Given the description of an element on the screen output the (x, y) to click on. 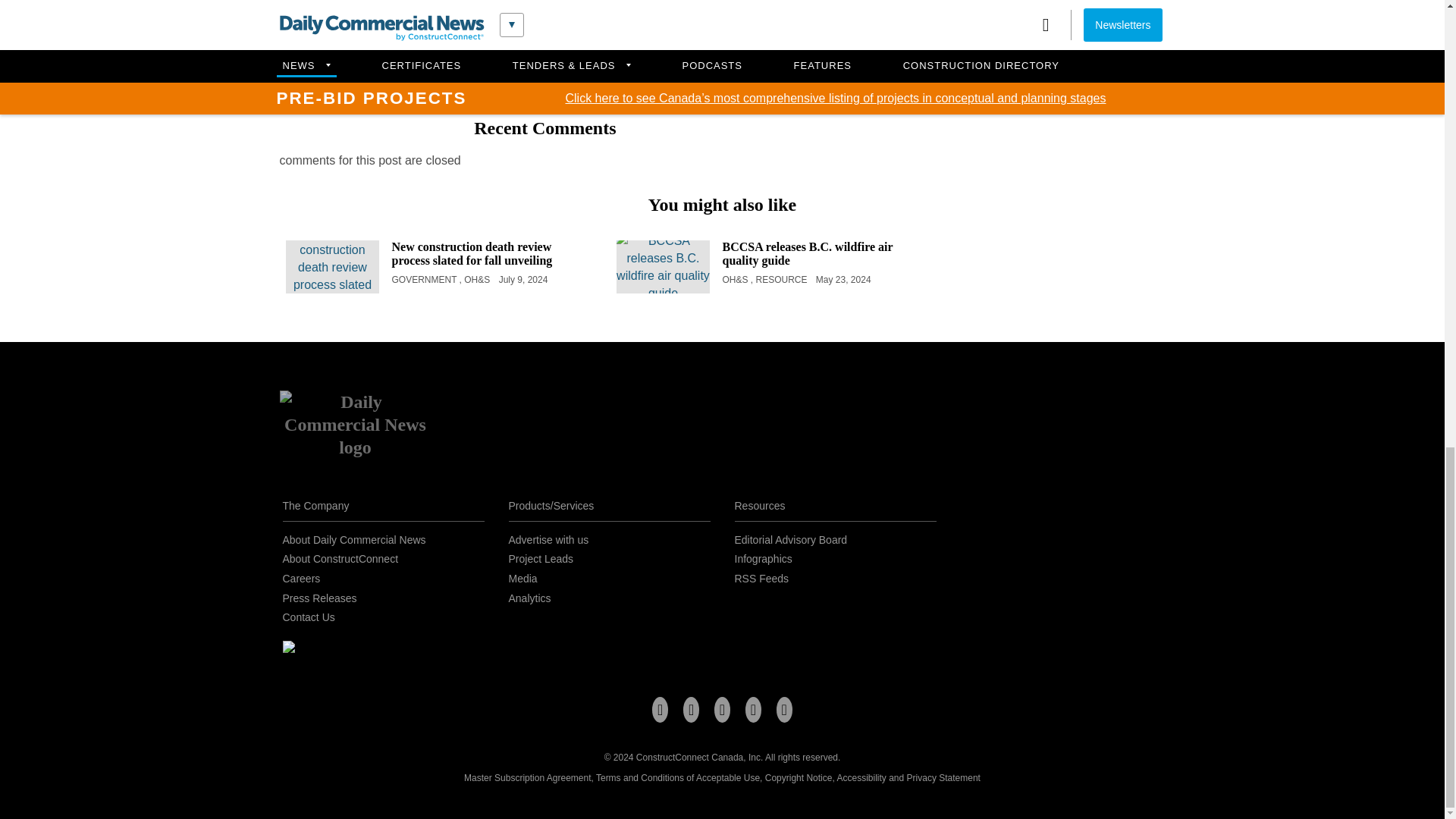
LinkedIn (544, 61)
Twitter (506, 61)
Facebook (470, 61)
Print (619, 60)
Email (581, 61)
